Given the description of an element on the screen output the (x, y) to click on. 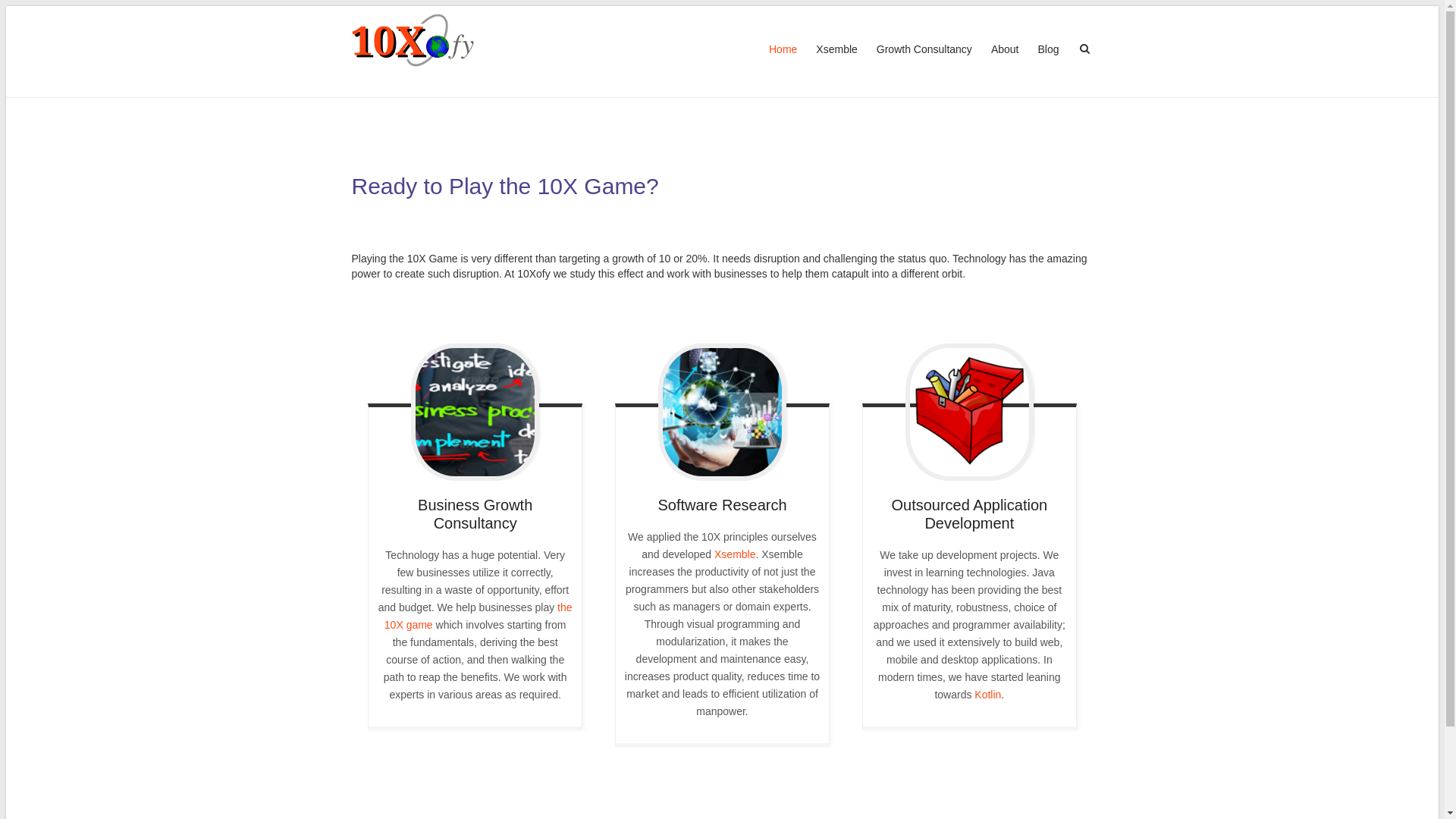
Outsourced Application Development  Element type: hover (969, 411)
Business Growth Consultancy  Element type: hover (475, 411)
Growth Consultancy Element type: text (924, 63)
Kotlin Element type: text (987, 694)
Blog Element type: text (1047, 63)
About Element type: text (1005, 63)
the 10X game Element type: text (478, 615)
Xsemble Element type: text (734, 554)
Software Research  Element type: hover (722, 411)
Home Element type: text (782, 63)
Xsemble Element type: text (835, 63)
